Given the description of an element on the screen output the (x, y) to click on. 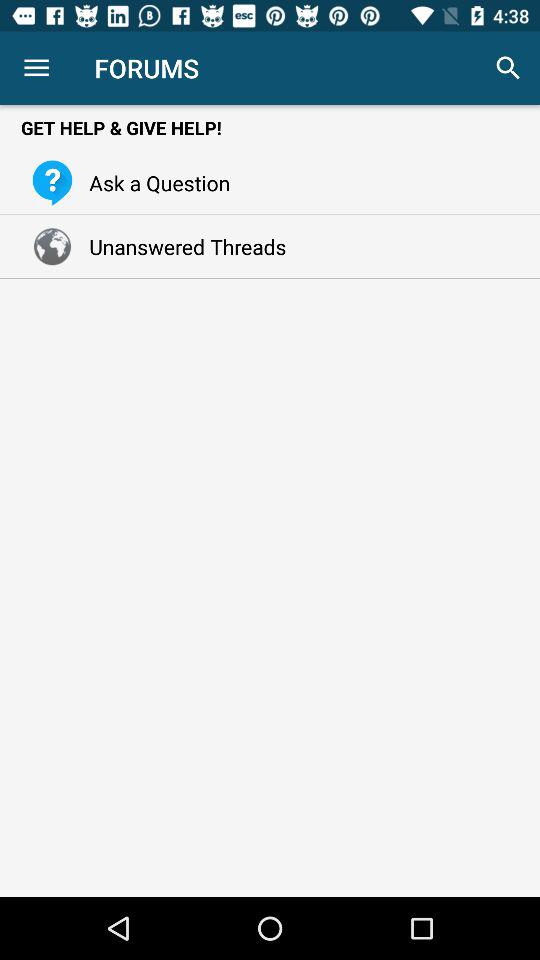
turn off icon above get help give (36, 68)
